Given the description of an element on the screen output the (x, y) to click on. 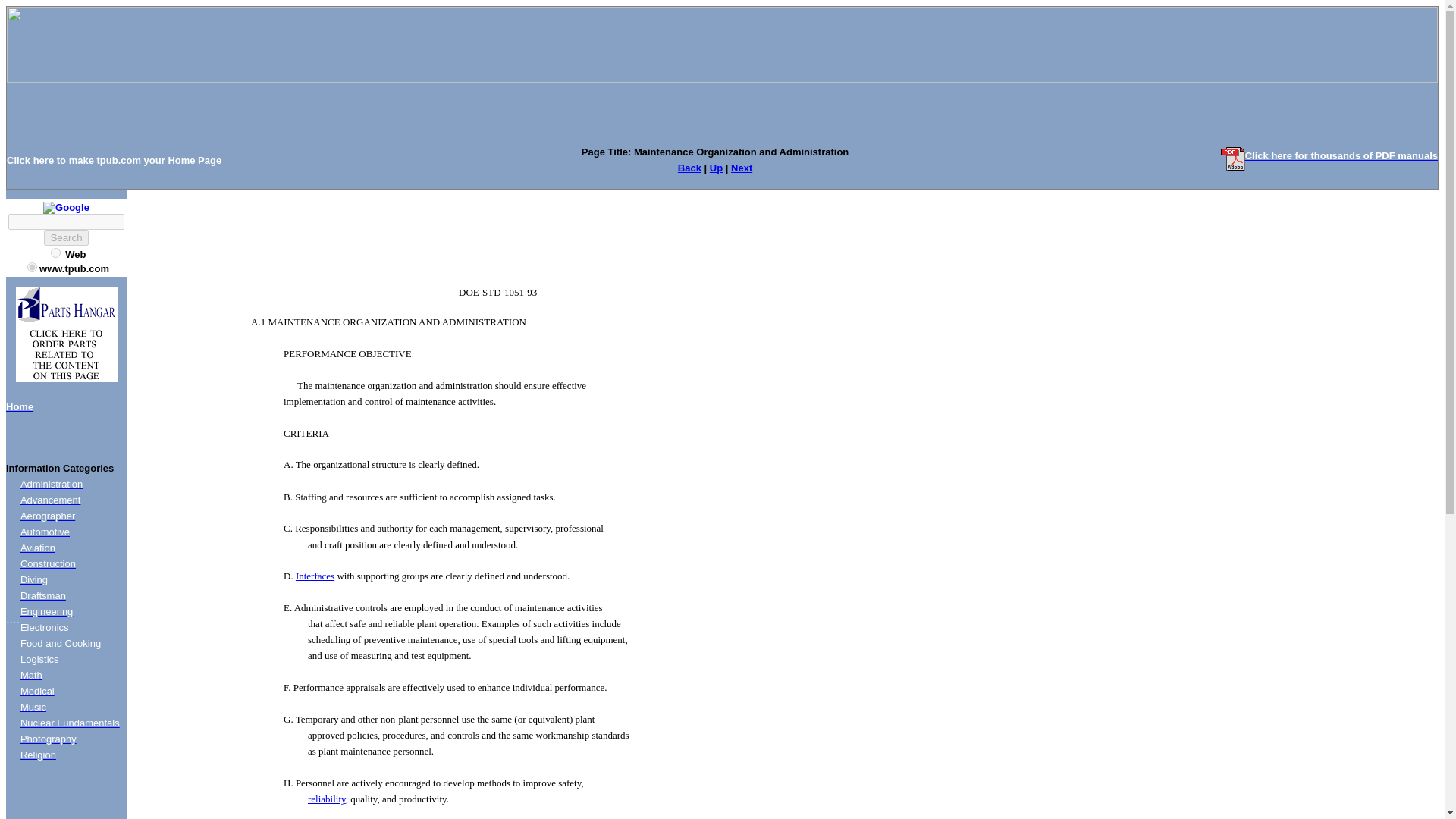
Construction (47, 563)
Diving (34, 579)
www.tpub.com (32, 266)
Draftsman (42, 595)
Administration (51, 483)
Electronics (44, 627)
Religion (38, 754)
Home (19, 406)
Math (31, 674)
Back (689, 167)
Next (741, 167)
Advancement (50, 500)
Search (65, 237)
Food and Cooking (60, 643)
Music (33, 706)
